Given the description of an element on the screen output the (x, y) to click on. 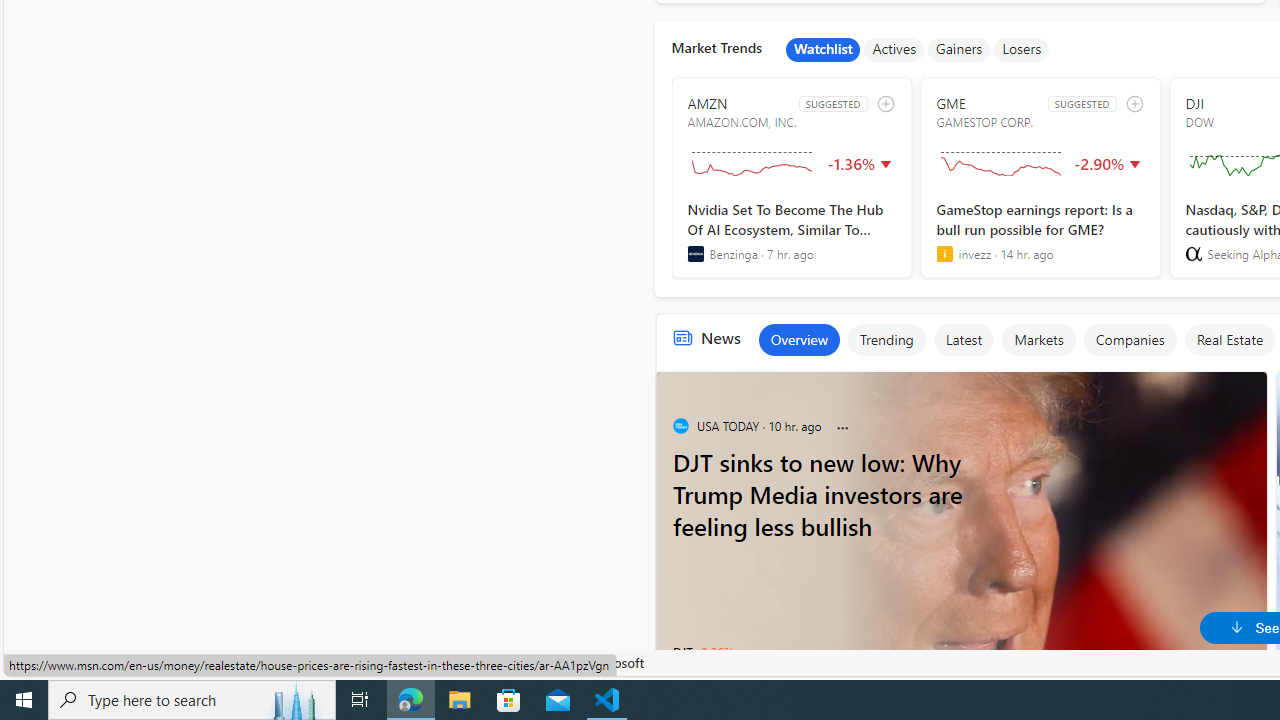
GME SUGGESTED GAMESTOP CORP. (1040, 178)
Seeking Alpha (1193, 254)
Markets (1038, 339)
AMZN SUGGESTED AMAZON.COM, INC. (791, 178)
Trending (886, 339)
Companies (1129, 339)
DJT -3.36% (702, 651)
GameStop earnings report: Is a bull run possible for GME? (1040, 231)
add to watchlist (1133, 103)
Actives (894, 49)
Watchlist (823, 49)
